Given the description of an element on the screen output the (x, y) to click on. 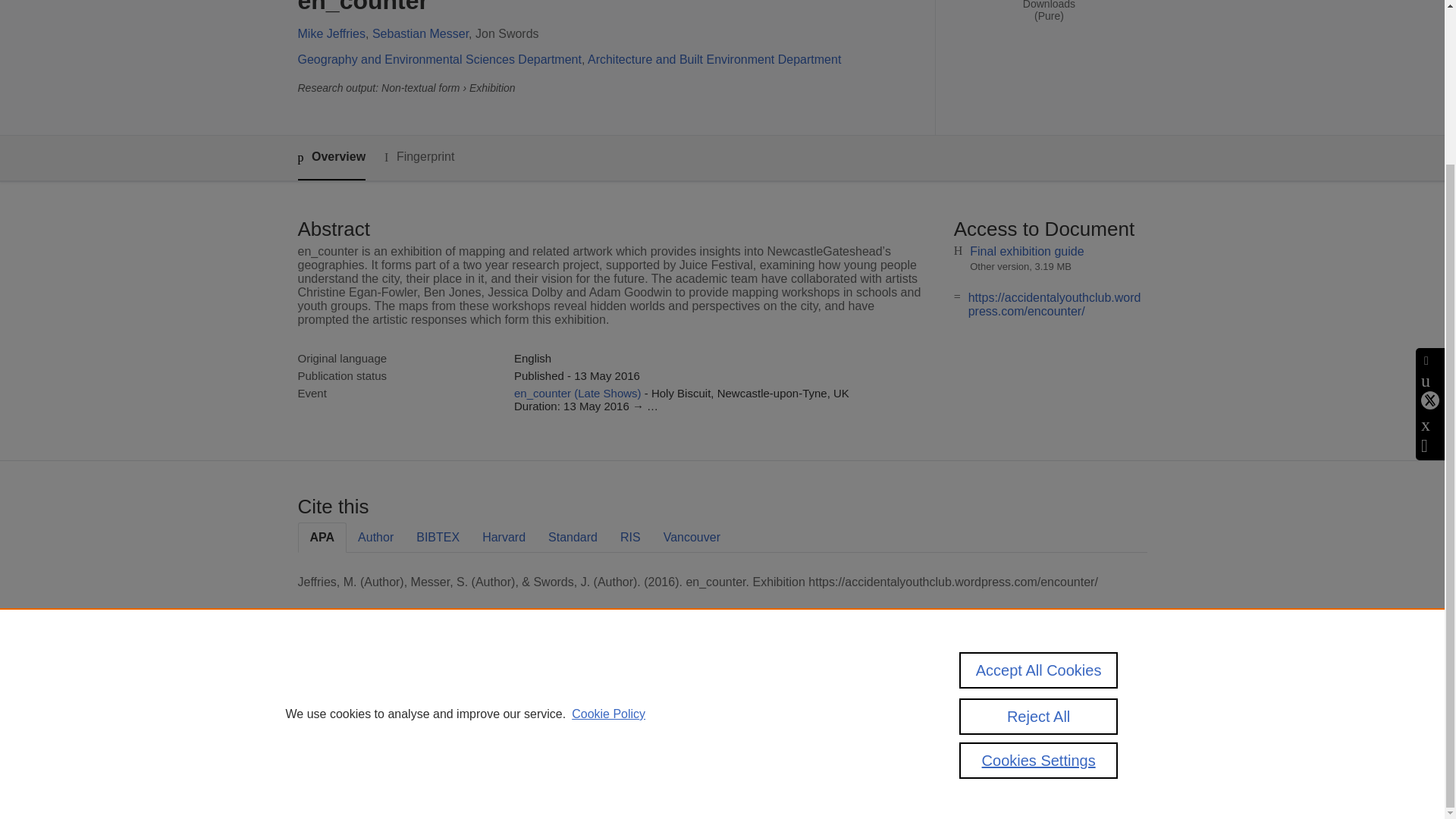
Architecture and Built Environment Department (714, 59)
About web accessibility (967, 719)
Pure (362, 687)
Reject All (1038, 520)
Scopus (394, 687)
use of cookies (796, 740)
Elsevier B.V. (506, 708)
Overview (331, 157)
Final exhibition guide (1026, 250)
Cookie Policy (608, 517)
Contact us (1123, 693)
Sebastian Messer (420, 33)
Report vulnerability (959, 740)
Geography and Environmental Sciences Department (438, 59)
Cookies Settings (334, 761)
